Given the description of an element on the screen output the (x, y) to click on. 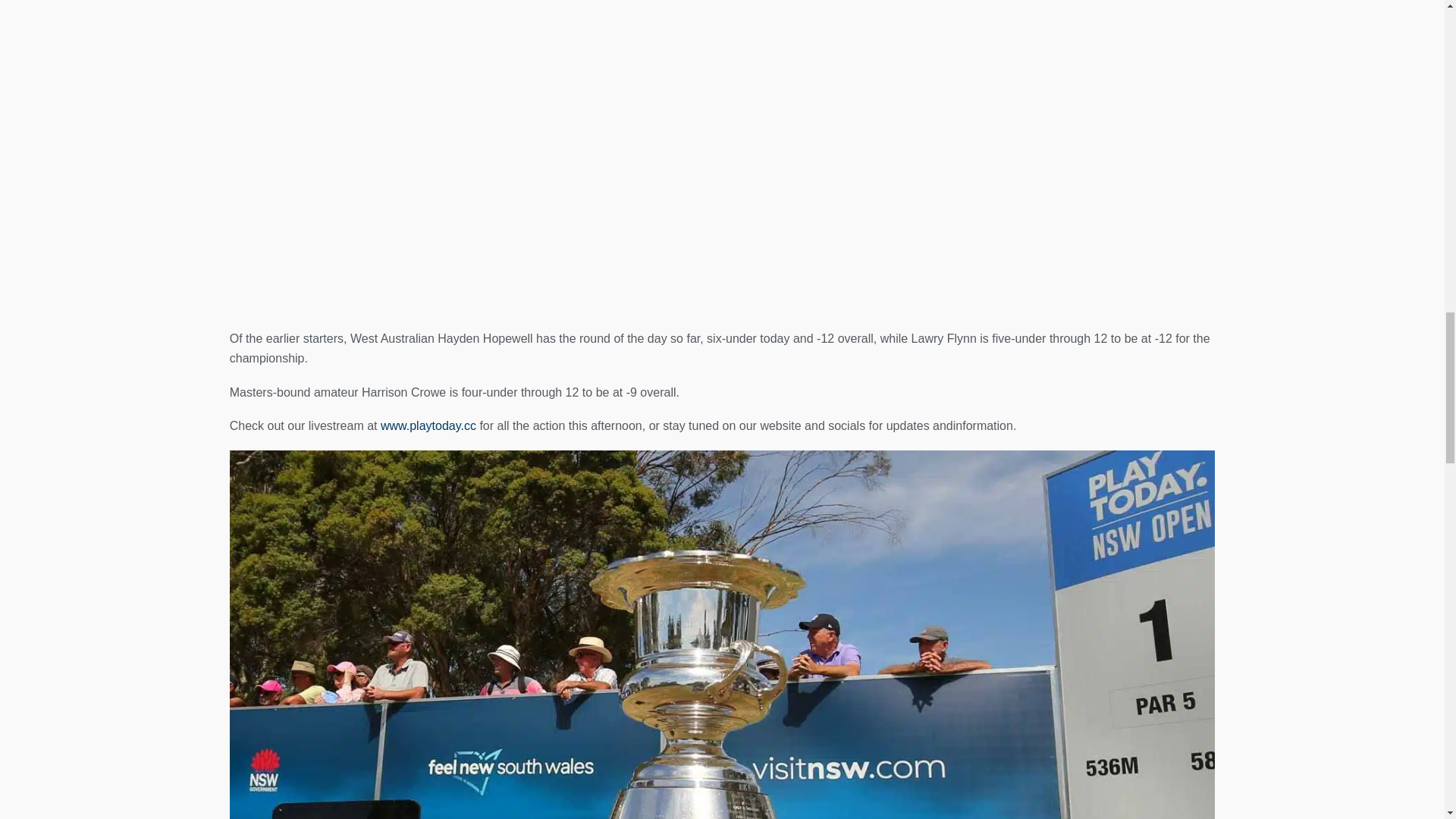
www.playtoday.cc (428, 425)
